Given the description of an element on the screen output the (x, y) to click on. 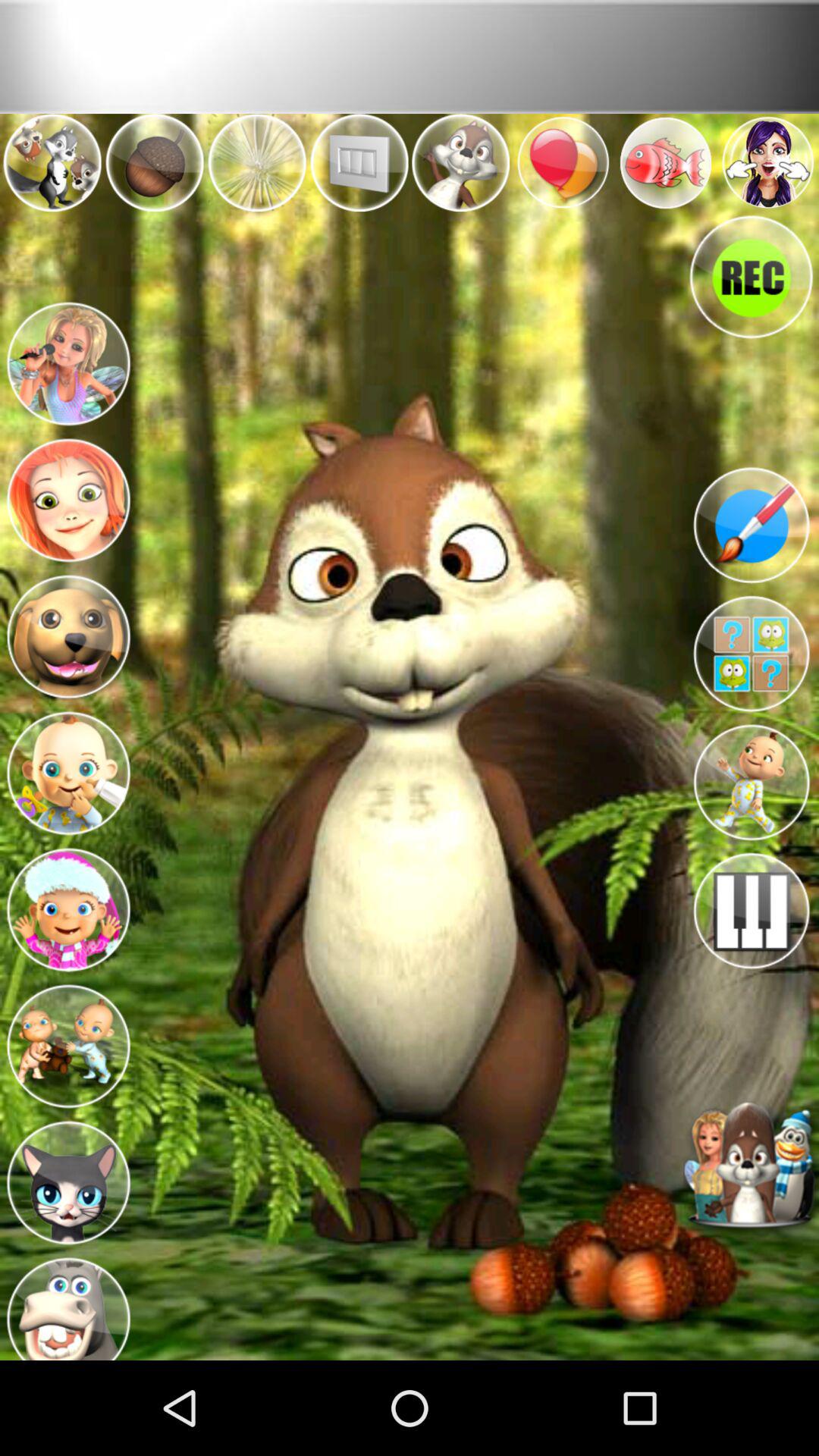
play piano (751, 910)
